Given the description of an element on the screen output the (x, y) to click on. 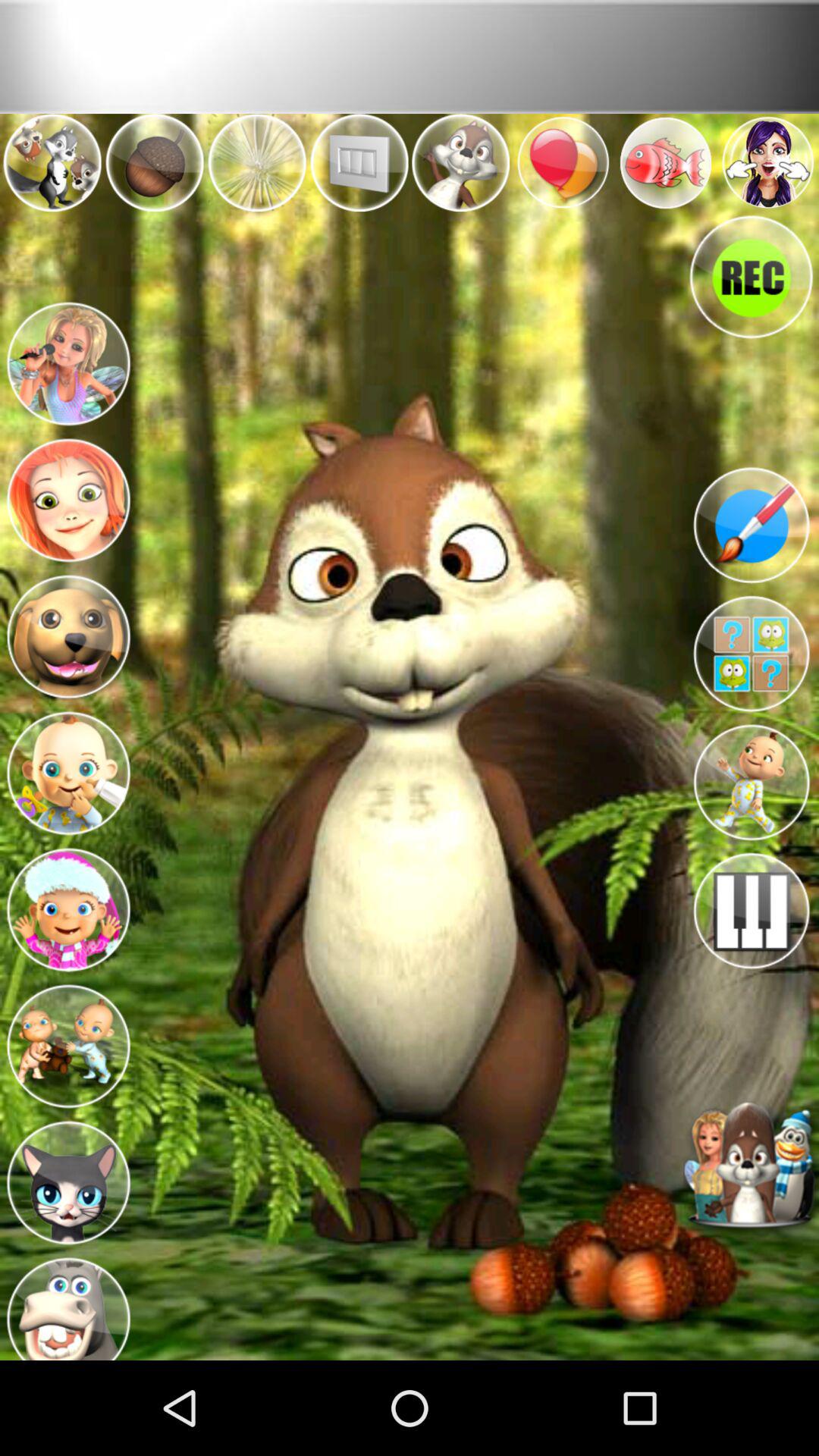
play piano (751, 910)
